Given the description of an element on the screen output the (x, y) to click on. 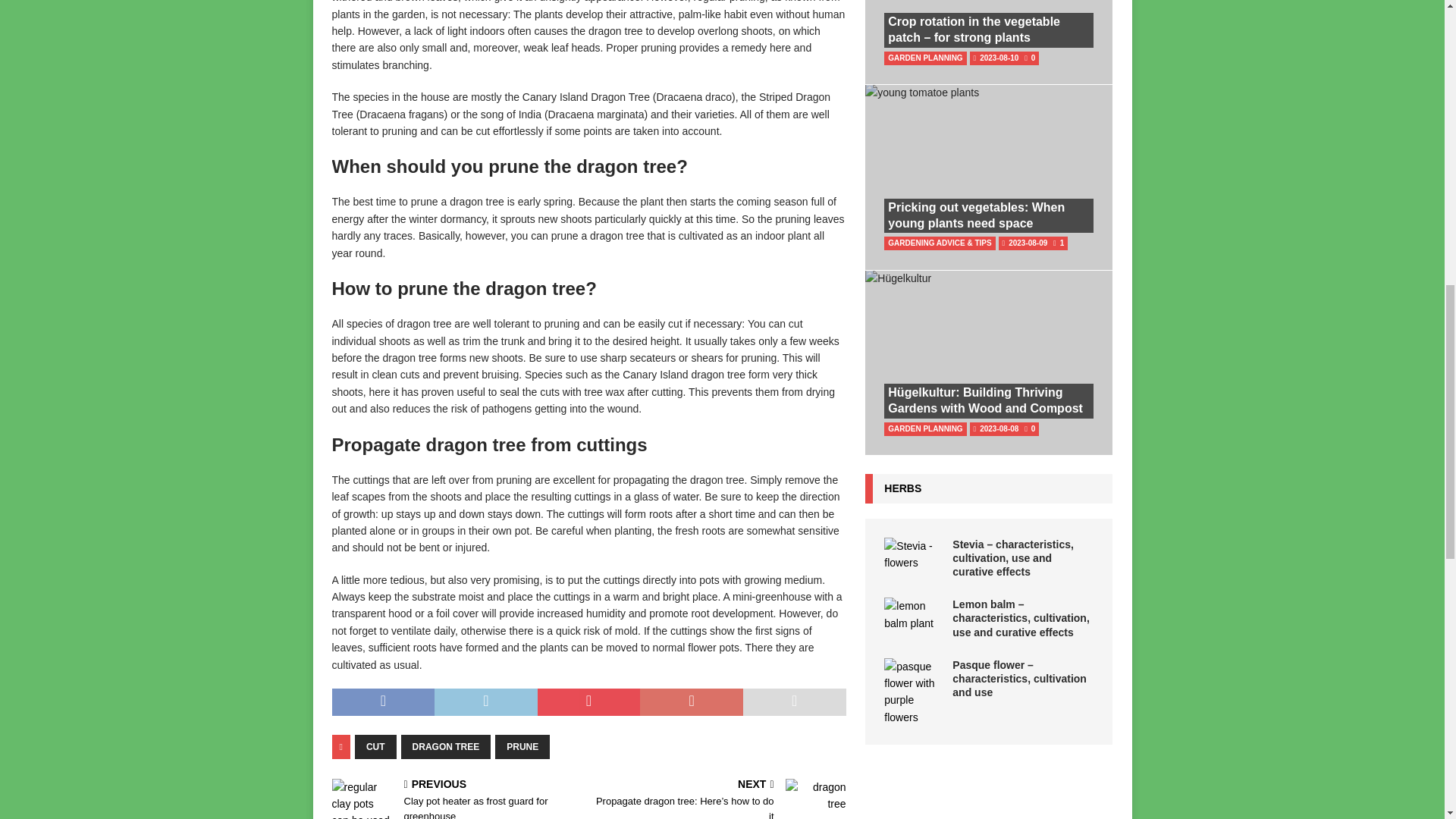
CUT (375, 746)
PRUNE (522, 746)
DRAGON TREE (446, 746)
